Given the description of an element on the screen output the (x, y) to click on. 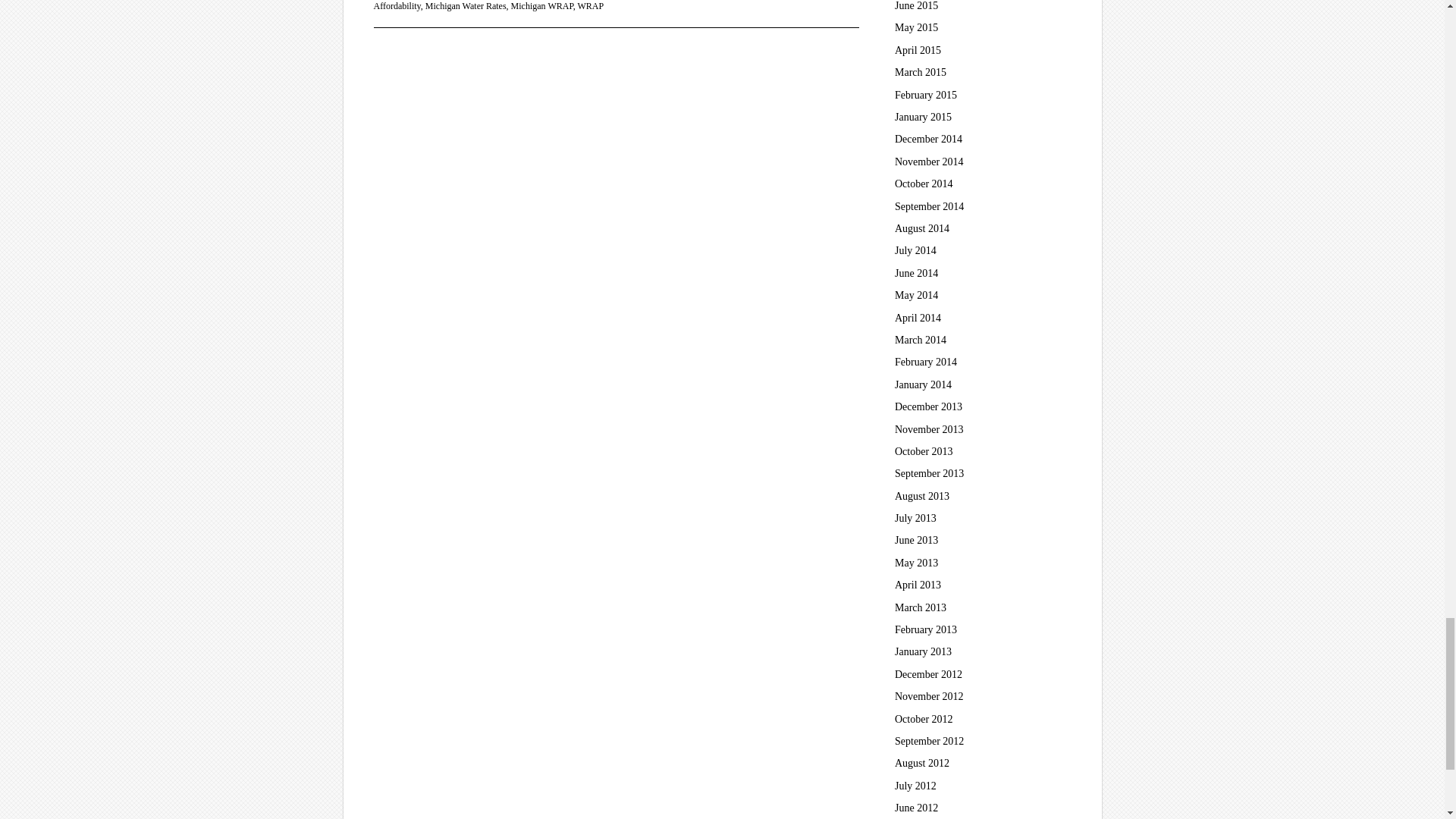
Michigan Water Affordability (598, 5)
WRAP (591, 5)
Michigan Water Rates (465, 5)
Michigan WRAP (542, 5)
